Given the description of an element on the screen output the (x, y) to click on. 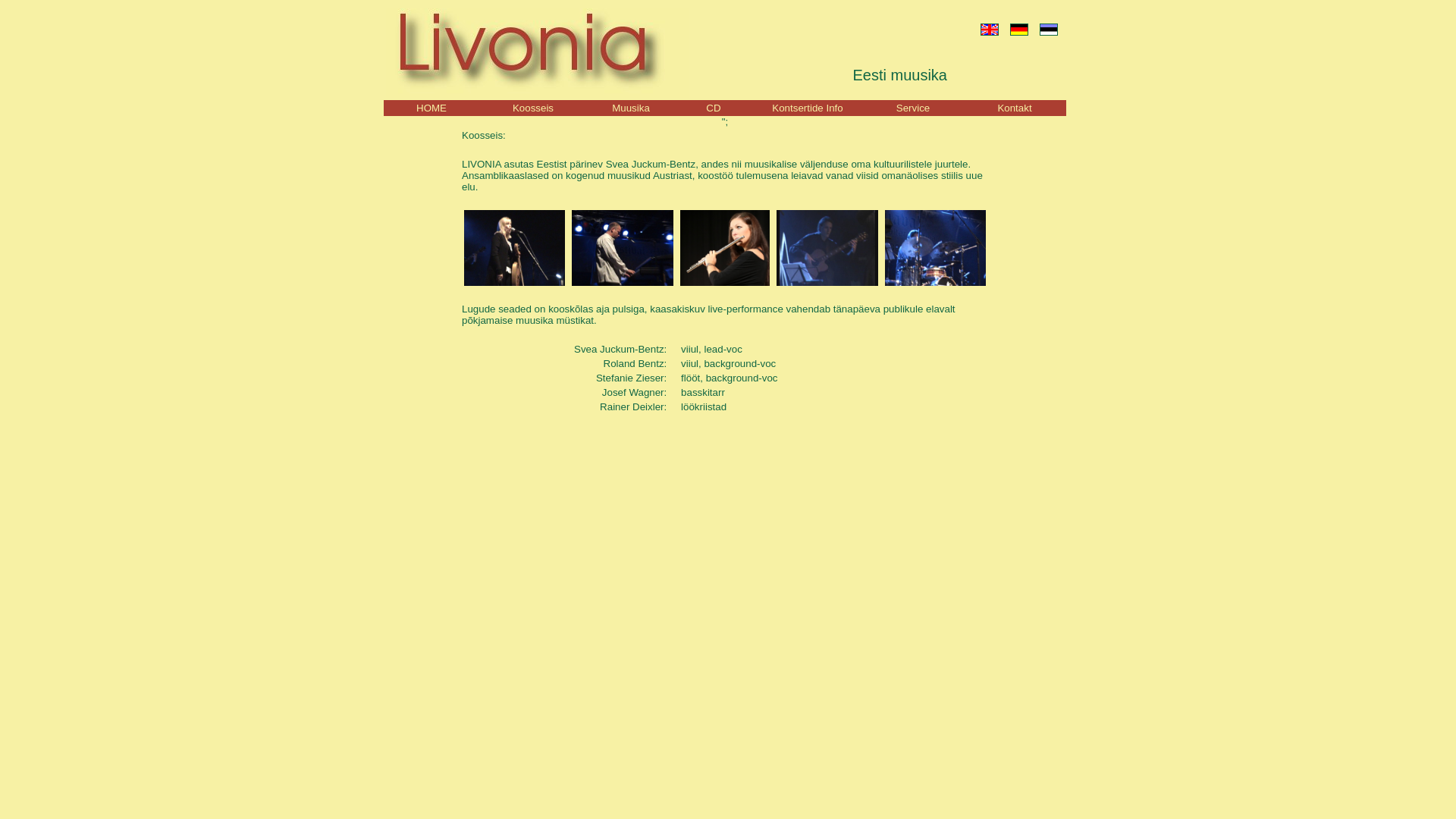
Service Element type: text (912, 107)
Koosseis Element type: text (533, 107)
HOME Element type: text (430, 107)
Kontakt Element type: text (1014, 107)
Muusika Element type: text (630, 107)
english Element type: hover (988, 29)
Kontsertide Info Element type: text (807, 107)
eesti Element type: hover (1047, 29)
deutsch Element type: hover (1019, 29)
CD Element type: text (713, 107)
